Given the description of an element on the screen output the (x, y) to click on. 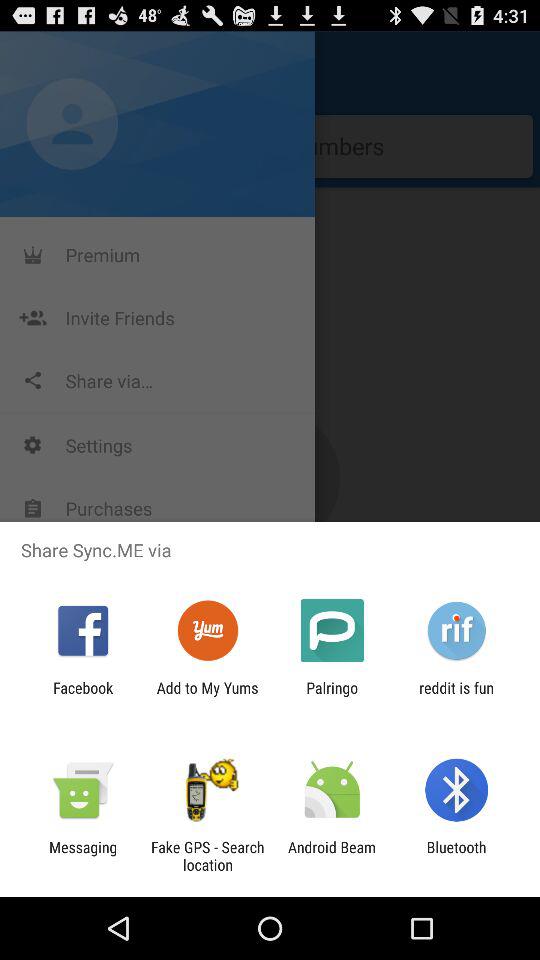
open add to my item (207, 696)
